Given the description of an element on the screen output the (x, y) to click on. 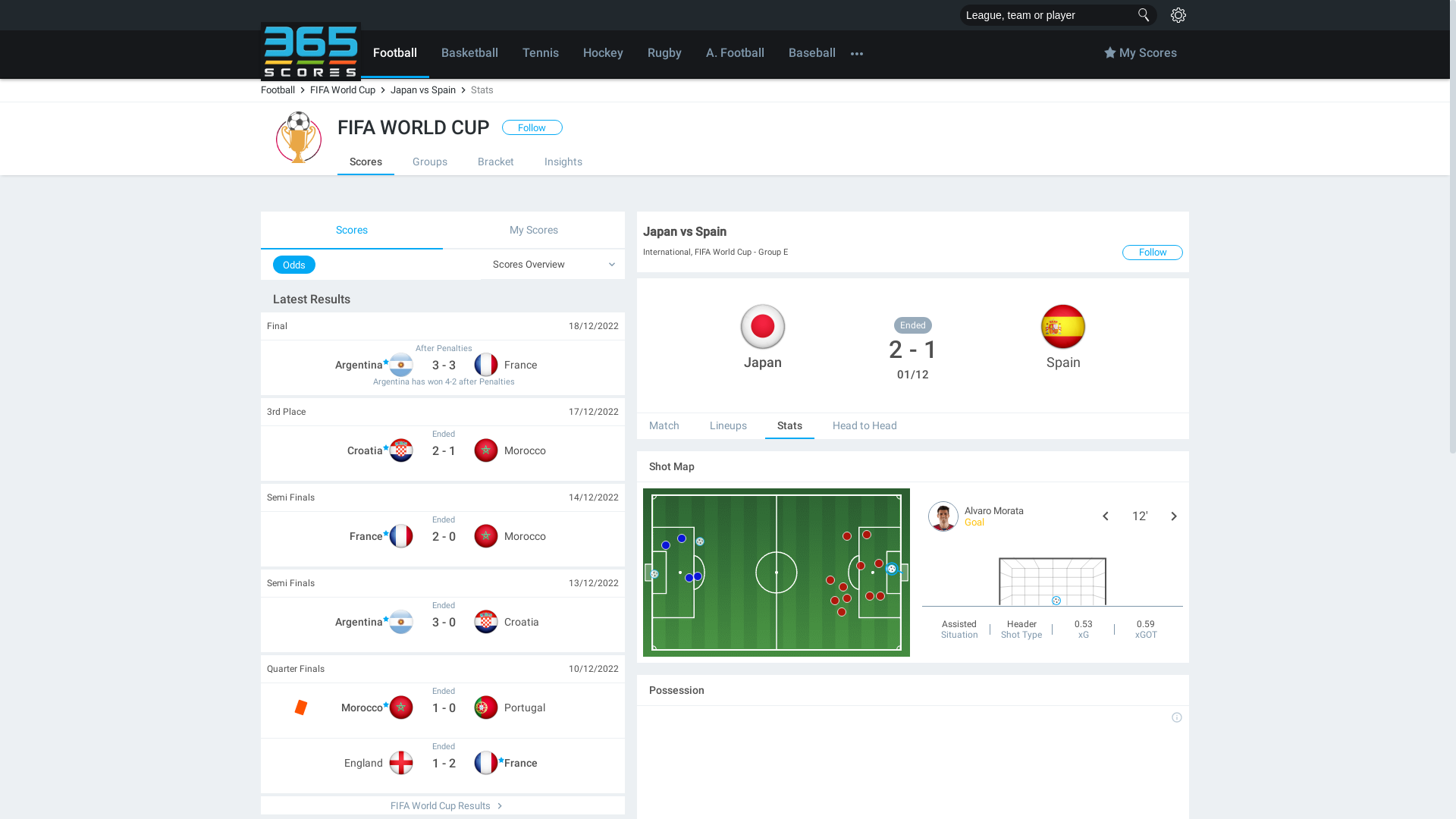
My Scores Element type: text (1140, 54)
Morocco
Ended
1
-
0
Portugal Element type: text (443, 710)
FIFA WORLD CUP Element type: text (413, 127)
Japan Element type: text (762, 337)
Spain Element type: text (1063, 337)
Japan vs Spain Element type: text (430, 89)
Argentina
Ended
3
-
0
Croatia Element type: text (443, 624)
Stats Element type: text (789, 426)
FIFA World Cup Element type: hover (298, 137)
France
Ended
2
-
0
Morocco Element type: text (443, 538)
Insights Element type: text (563, 162)
Croatia
Ended
2
-
1
Morocco Element type: text (443, 453)
Rugby Element type: text (664, 54)
Basketball Element type: text (469, 54)
Match Element type: text (664, 426)
Japan vs Spain Element type: text (913, 234)
Bracket Element type: text (495, 162)
England
Ended
1
-
2
France Element type: text (443, 765)
Scores Element type: text (365, 162)
Head to Head Element type: text (864, 426)
Tennis Element type: text (540, 54)
Hockey Element type: text (603, 54)
Football Element type: text (285, 89)
Groups Element type: text (429, 162)
Baseball Element type: text (811, 54)
Football Element type: text (394, 54)
FIFA World Cup Element type: text (350, 89)
Lineups Element type: text (728, 426)
A. Football Element type: text (734, 54)
